Given the description of an element on the screen output the (x, y) to click on. 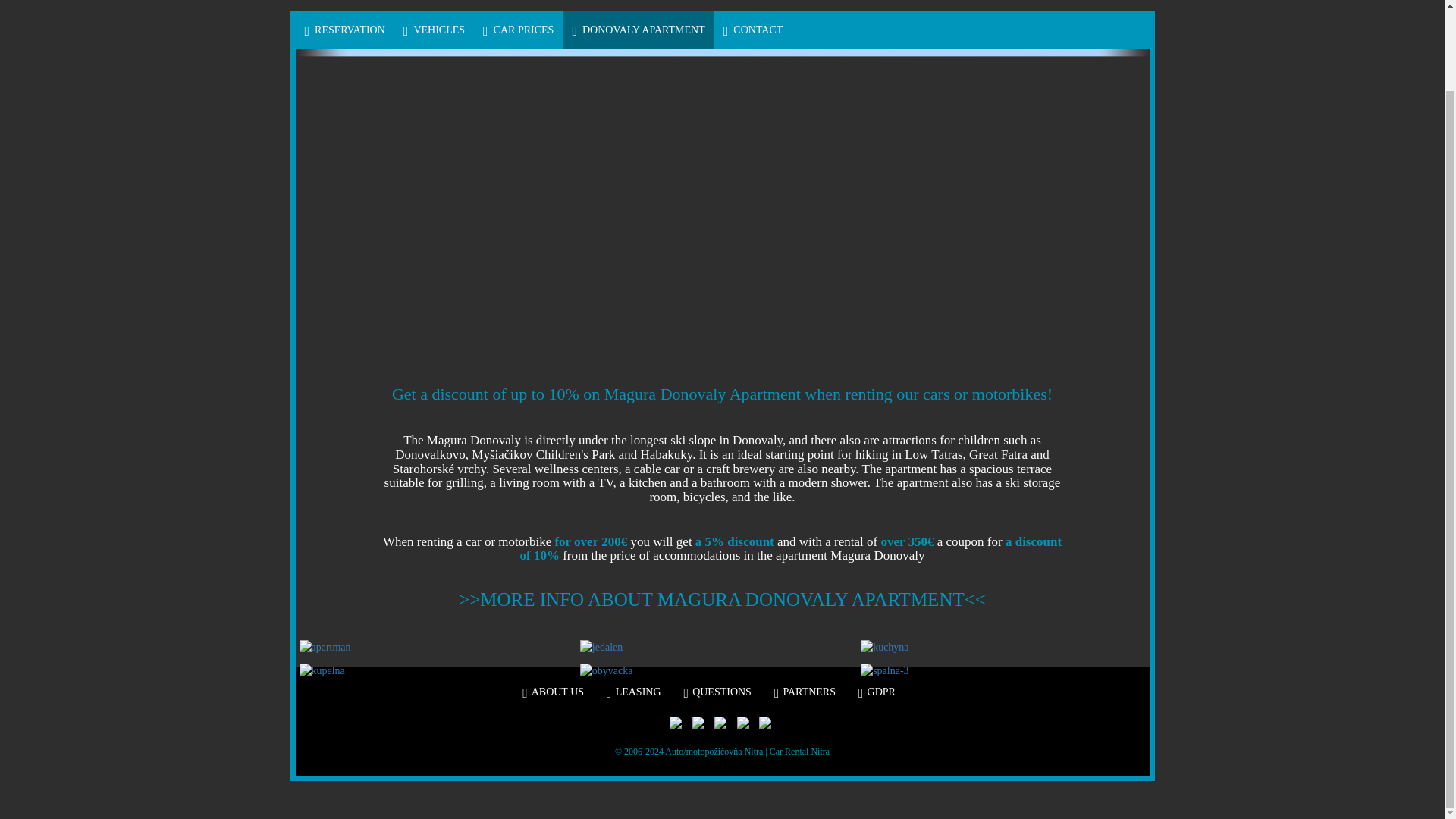
VEHICLES (434, 29)
QUESTIONS (717, 691)
PARTNERS (804, 691)
DONOVALY APARTMENT (637, 29)
CAR PRICES (518, 29)
RESERVATION (344, 29)
ABOUT US (552, 691)
LEASING (634, 691)
GDPR (877, 691)
CONTACT (753, 29)
